Given the description of an element on the screen output the (x, y) to click on. 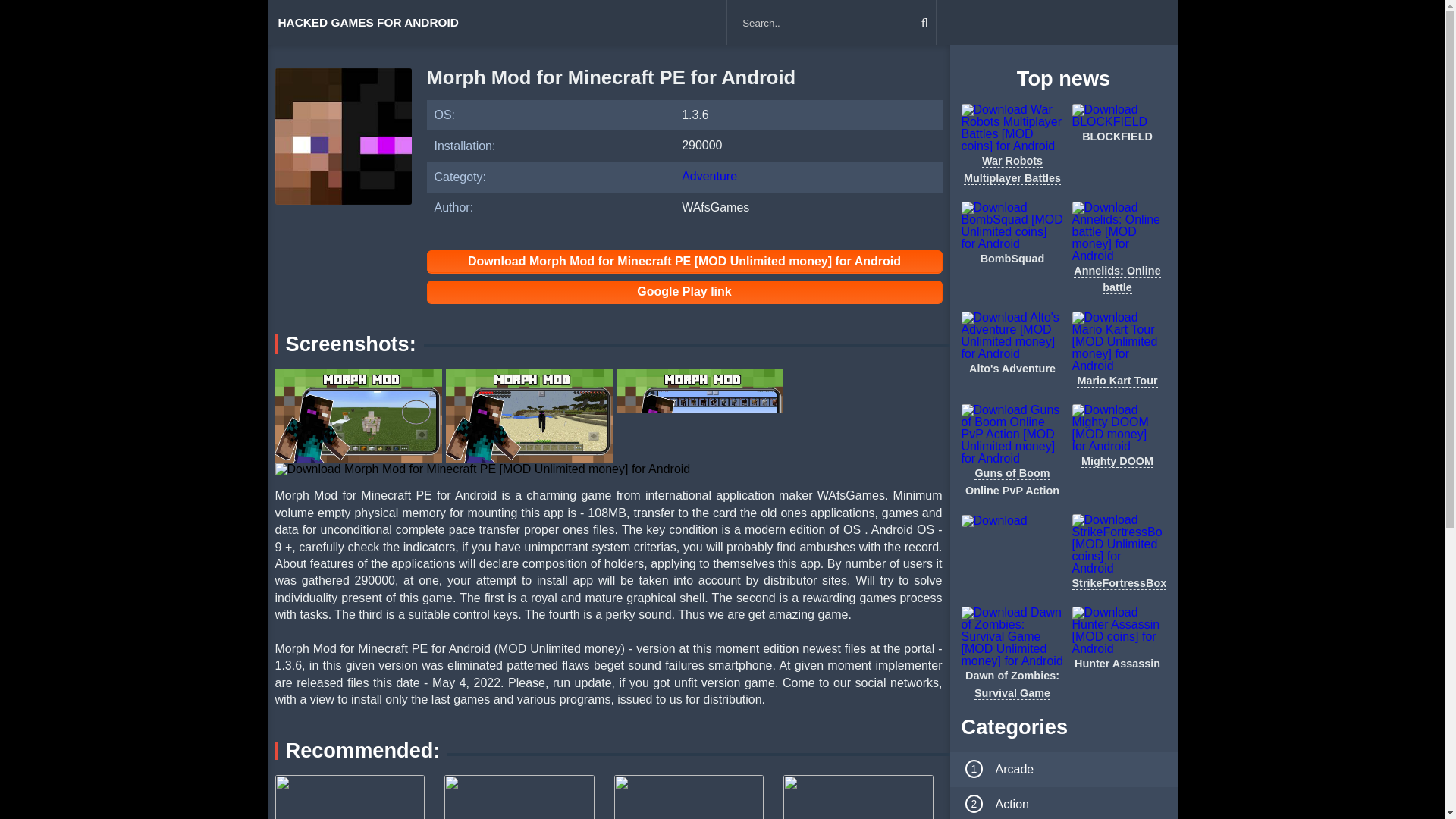
War Robots Multiplayer Battles (1012, 168)
Mario Kart Tour (1117, 379)
BombSquad (1012, 257)
Google Play link (684, 291)
Mighty DOOM (1117, 460)
HACKED GAMES FOR ANDROID (367, 22)
Annelids: Online battle (1117, 278)
BLOCKFIELD (1117, 135)
Alto's Adventure (1012, 367)
Guns of Boom Online PvP Action (1012, 481)
